Given the description of an element on the screen output the (x, y) to click on. 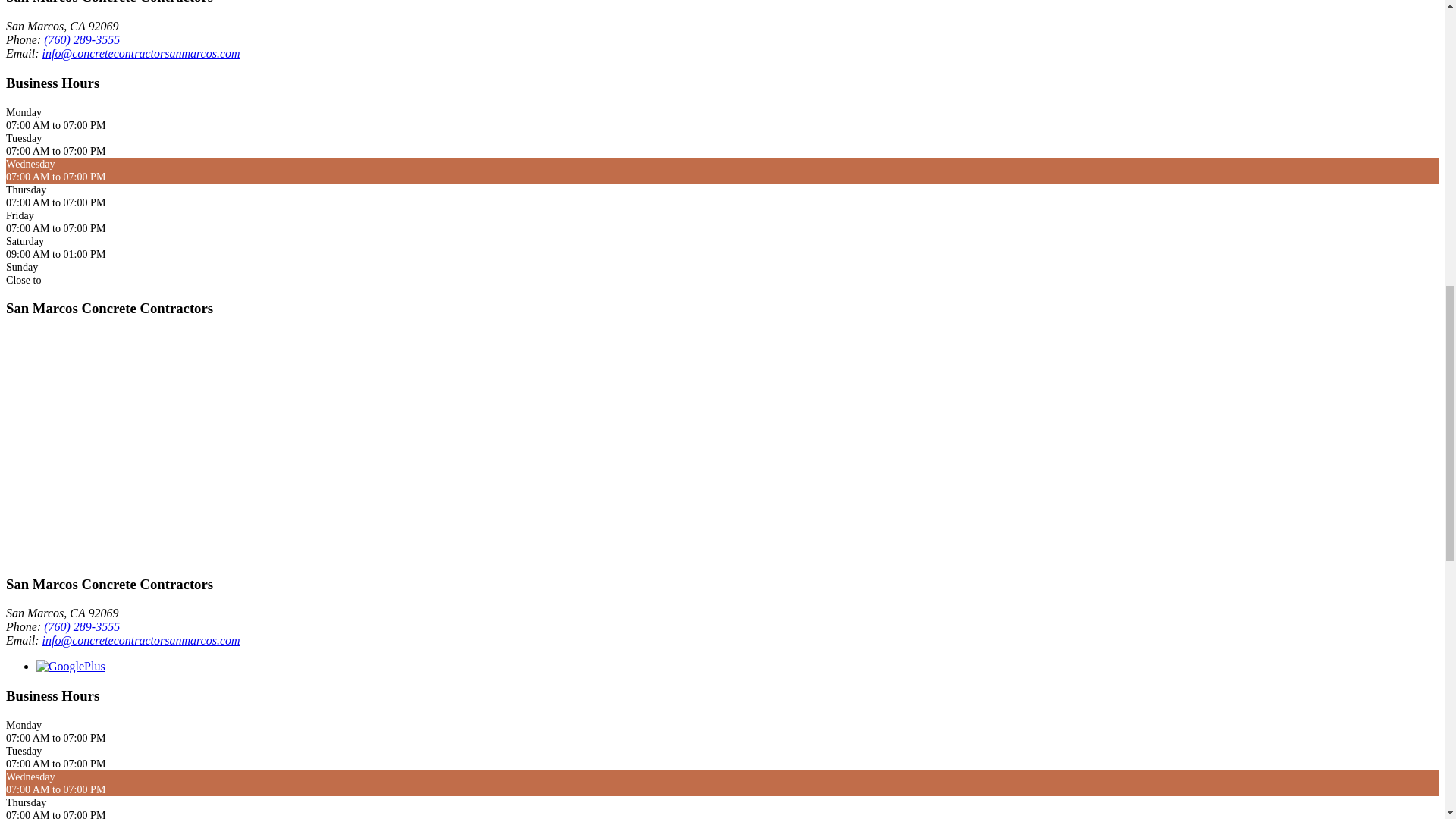
Phone (81, 626)
GooglePlus (70, 666)
